Given the description of an element on the screen output the (x, y) to click on. 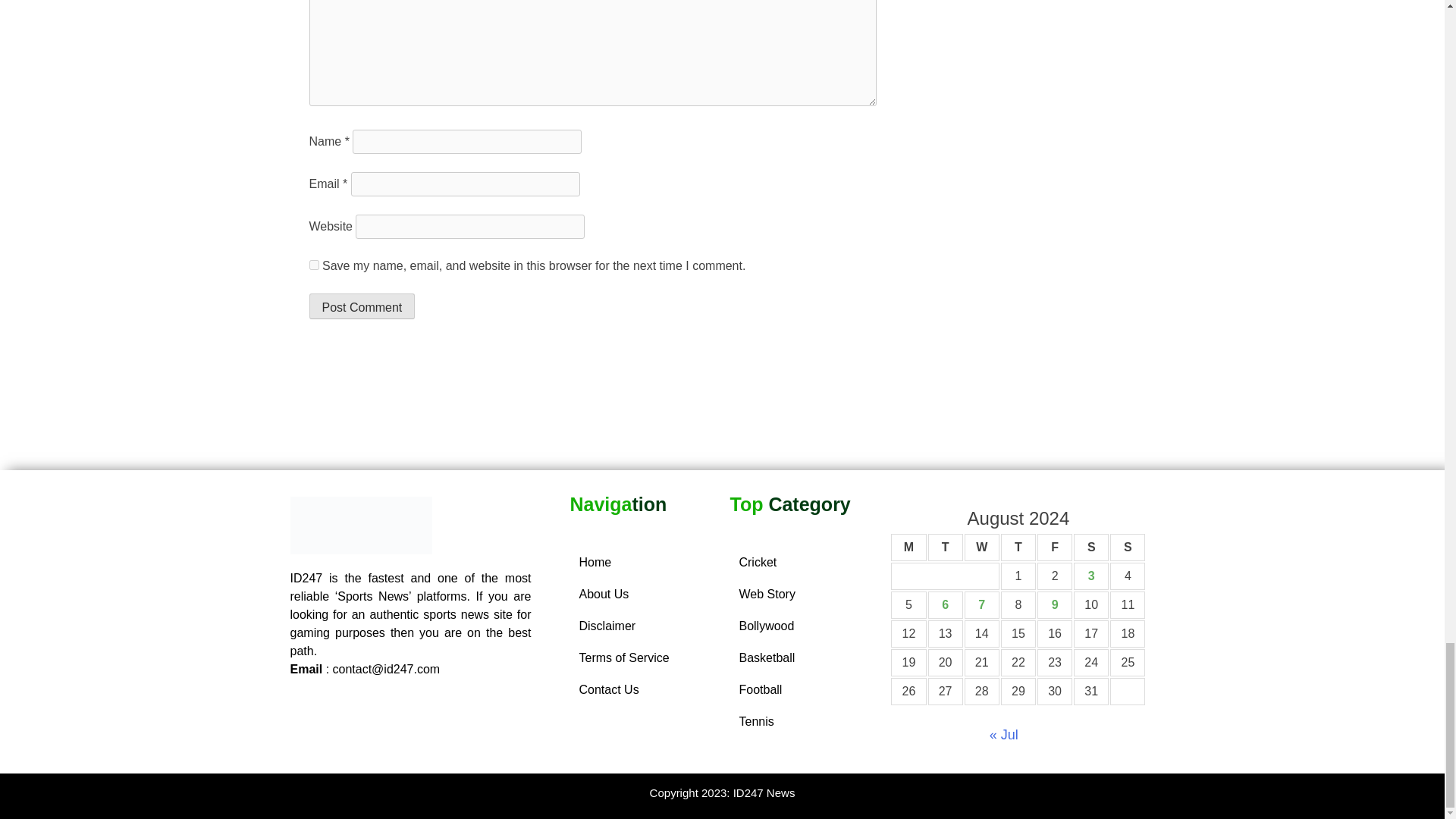
yes (313, 265)
Thursday (1018, 547)
Post Comment (361, 306)
Monday (908, 547)
Wednesday (980, 547)
Tuesday (945, 547)
